Given the description of an element on the screen output the (x, y) to click on. 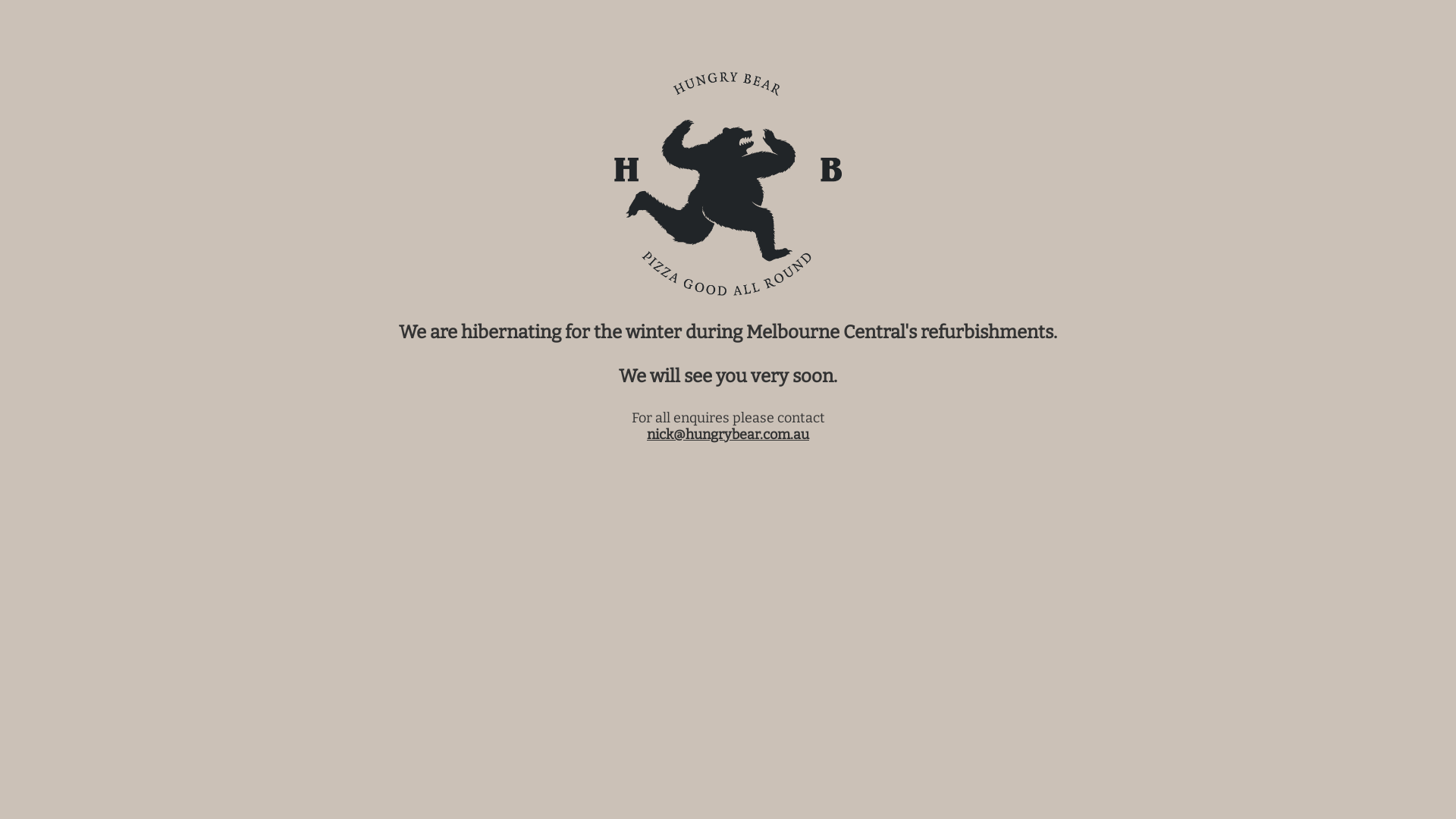
nick@hungrybear.com.au Element type: text (727, 434)
